Given the description of an element on the screen output the (x, y) to click on. 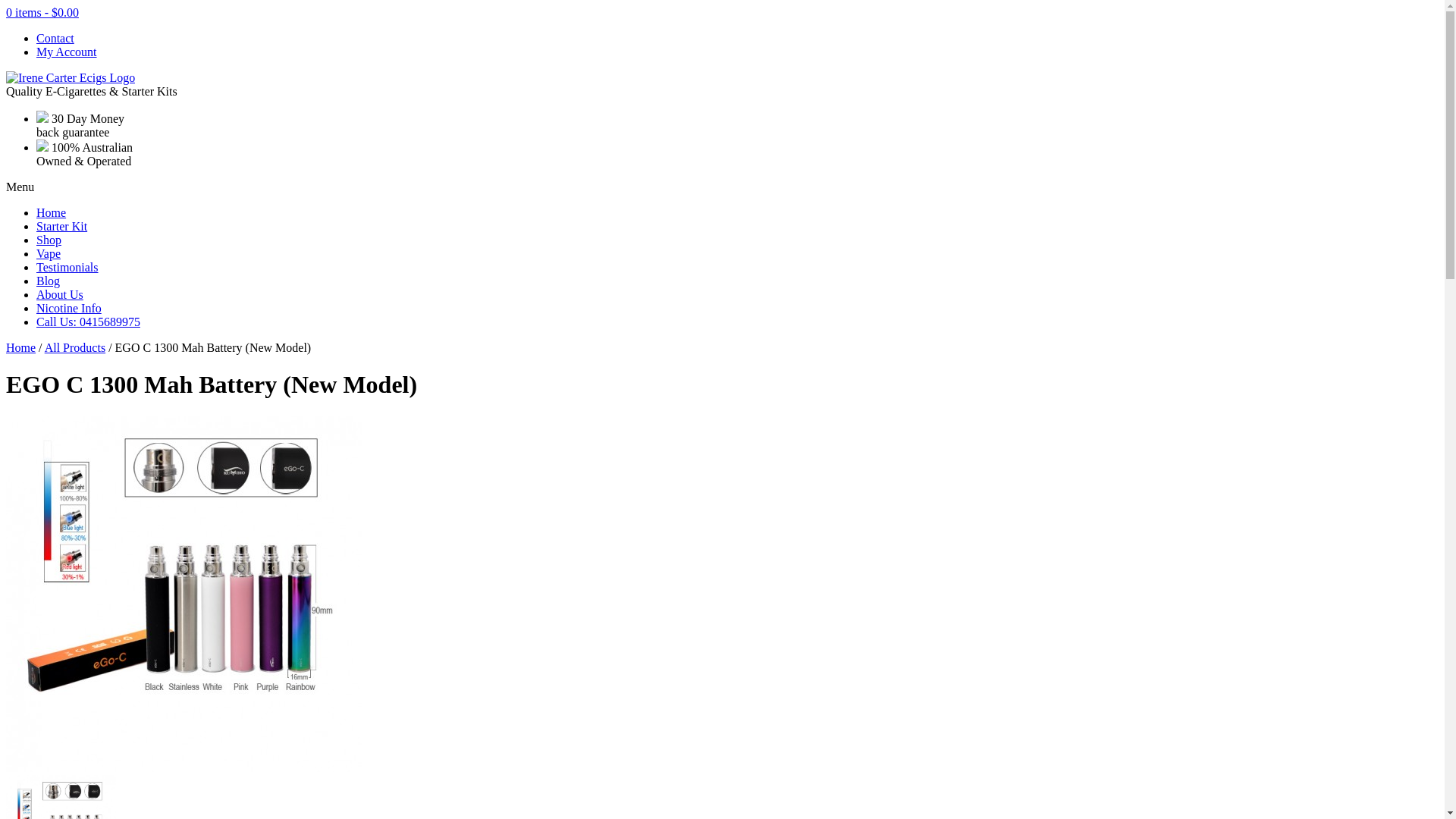
Shop Element type: text (48, 239)
0 items - $0.00 Element type: text (42, 12)
Vape Element type: text (48, 253)
Home Element type: text (50, 212)
About Us Element type: text (59, 294)
Kumiho-eGo-C-1300mAh-Manual-Battery3[1] Element type: hover (184, 767)
My Account Element type: text (66, 51)
Testimonials Element type: text (67, 266)
Blog Element type: text (47, 280)
Starter Kit Element type: text (61, 225)
Home Element type: text (20, 347)
Contact Element type: text (55, 37)
All Products Element type: text (74, 347)
Nicotine Info Element type: text (68, 307)
Kumiho-eGo-C-1300mAh-Manual-Battery3[1] Element type: hover (184, 593)
Call Us: 0415689975 Element type: text (88, 321)
